Given the description of an element on the screen output the (x, y) to click on. 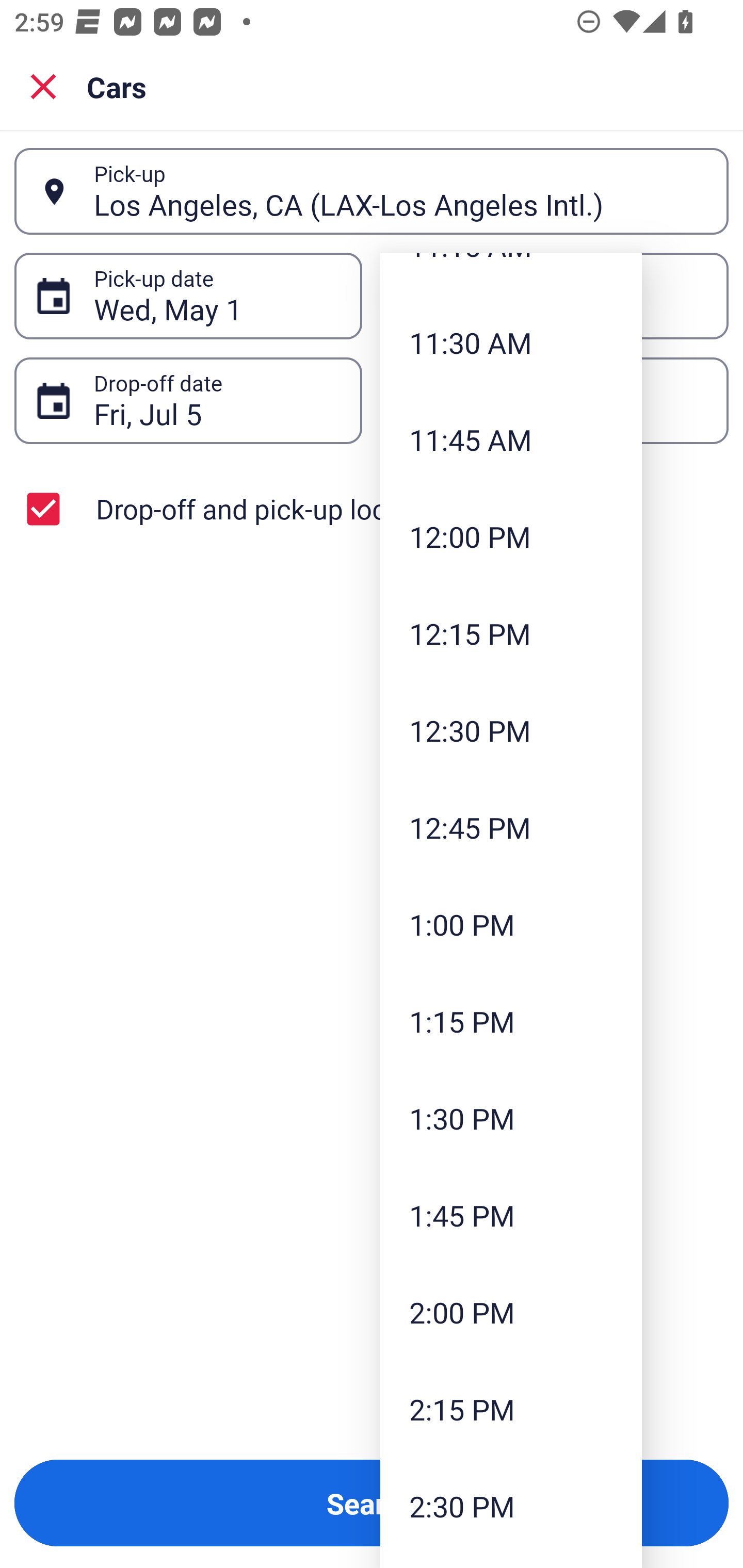
11:30 AM (510, 342)
11:45 AM (510, 438)
12:00 PM (510, 535)
12:15 PM (510, 633)
12:30 PM (510, 730)
12:45 PM (510, 827)
1:00 PM (510, 924)
1:15 PM (510, 1020)
1:30 PM (510, 1117)
1:45 PM (510, 1214)
2:00 PM (510, 1312)
2:15 PM (510, 1409)
2:30 PM (510, 1505)
